Given the description of an element on the screen output the (x, y) to click on. 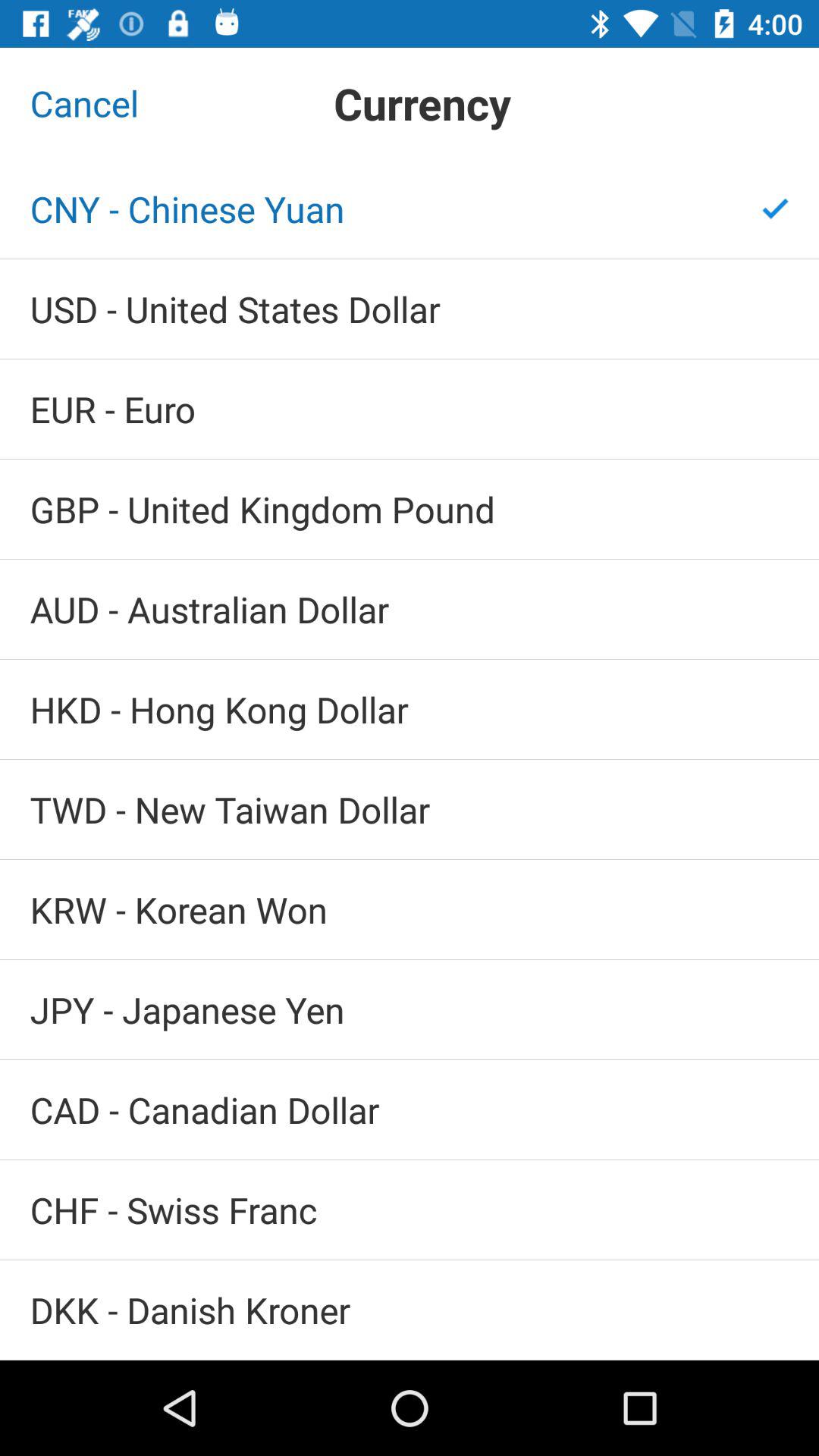
click the icon below hkd hong kong icon (409, 809)
